Given the description of an element on the screen output the (x, y) to click on. 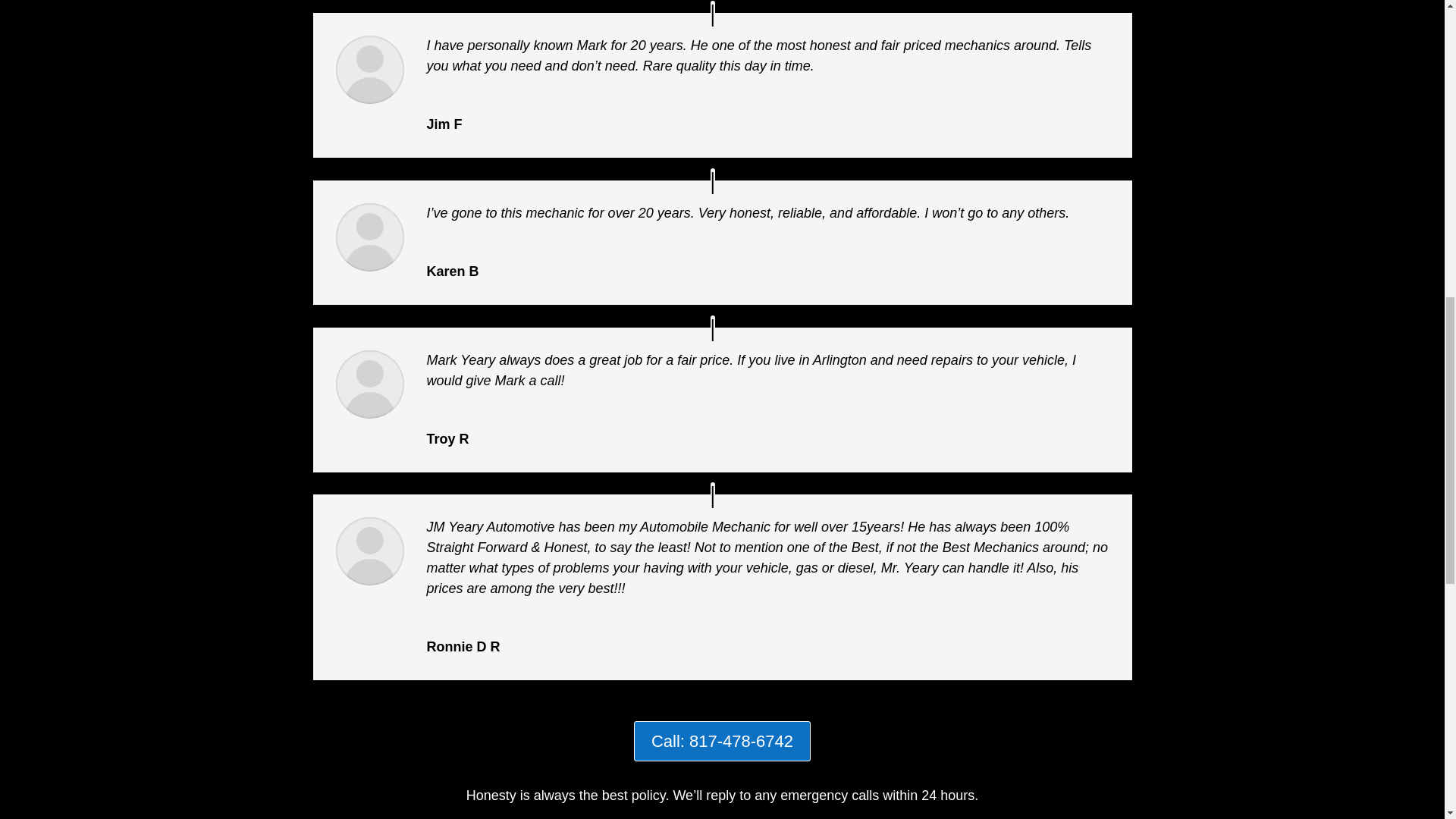
Call: 817-478-6742 (721, 741)
